Given the description of an element on the screen output the (x, y) to click on. 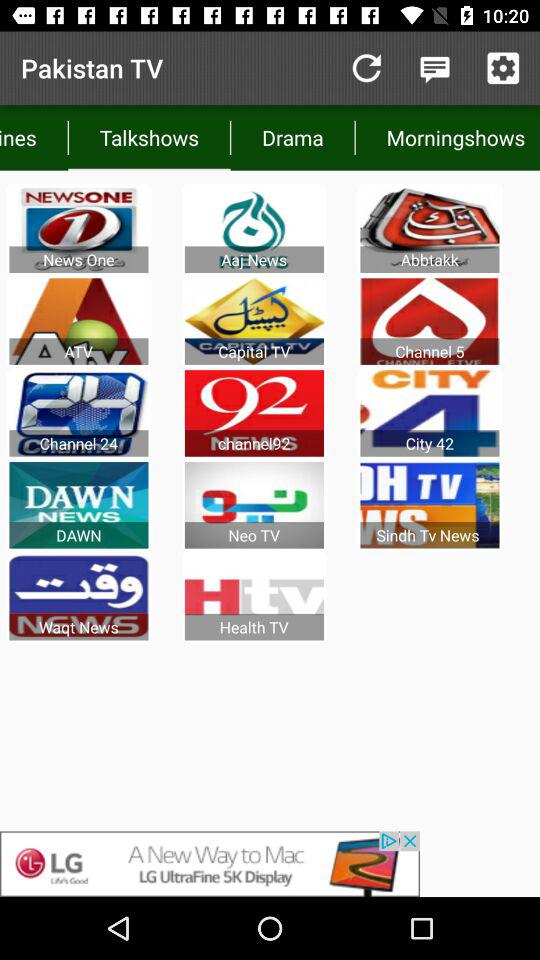
refresh (366, 67)
